Given the description of an element on the screen output the (x, y) to click on. 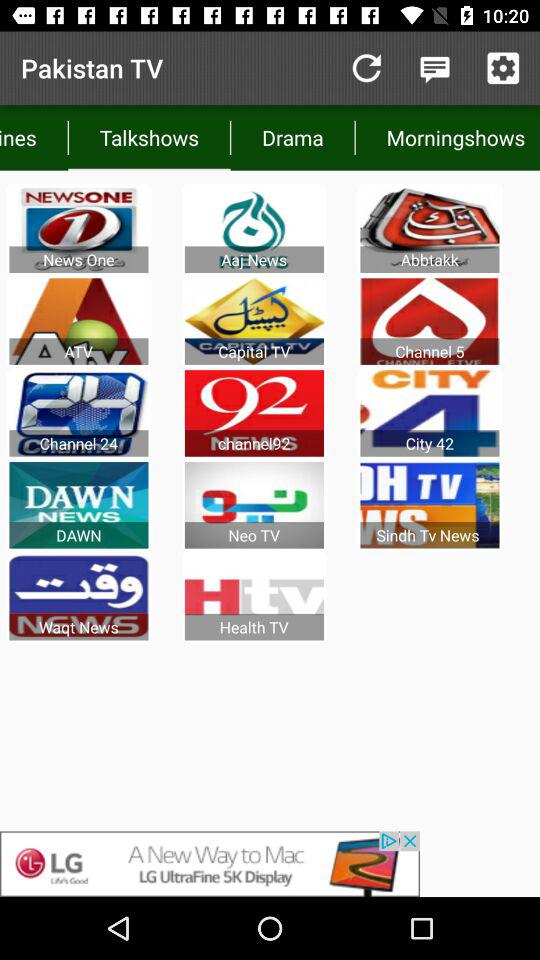
refresh (366, 67)
